Given the description of an element on the screen output the (x, y) to click on. 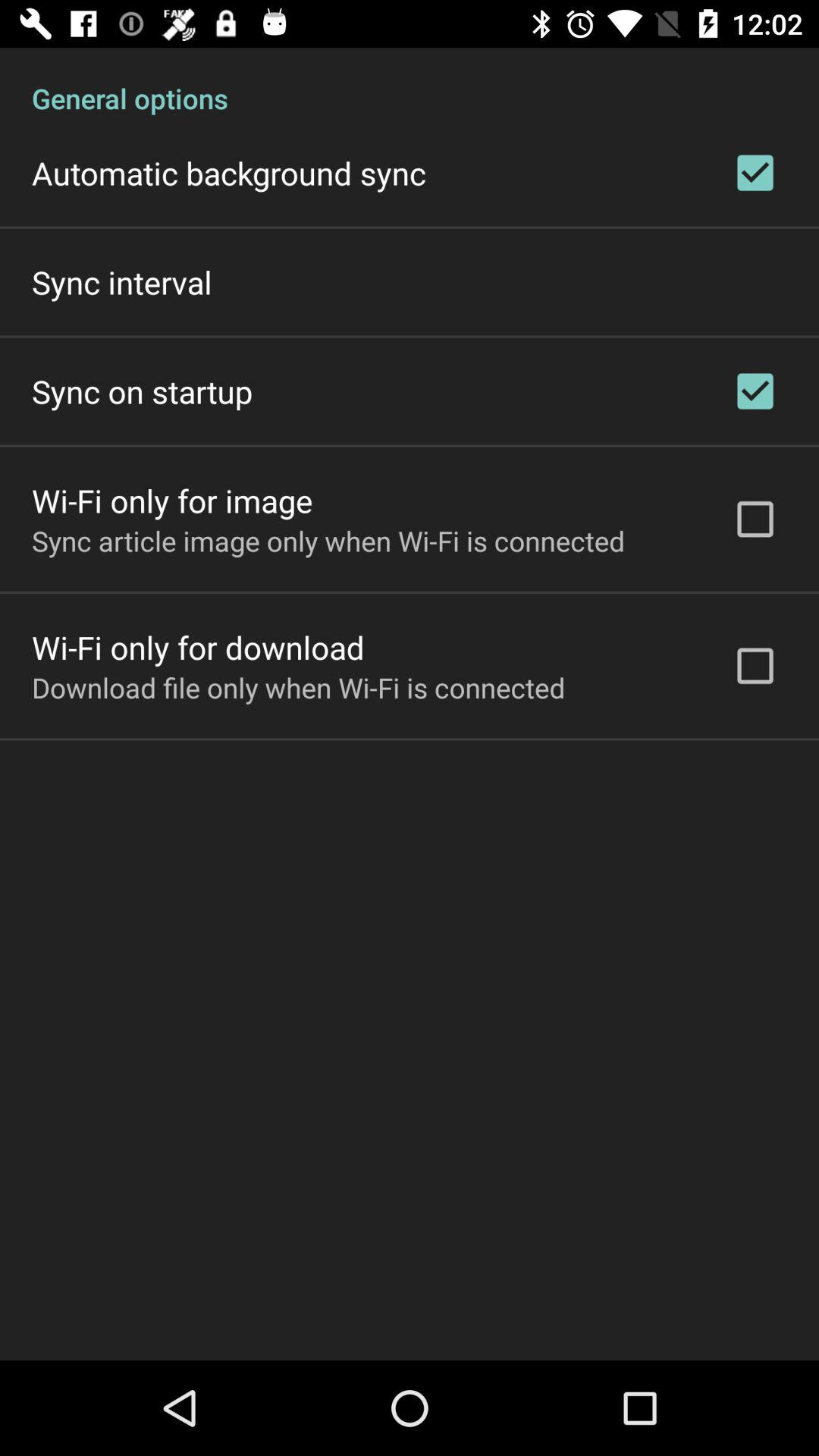
flip to the general options item (409, 82)
